Given the description of an element on the screen output the (x, y) to click on. 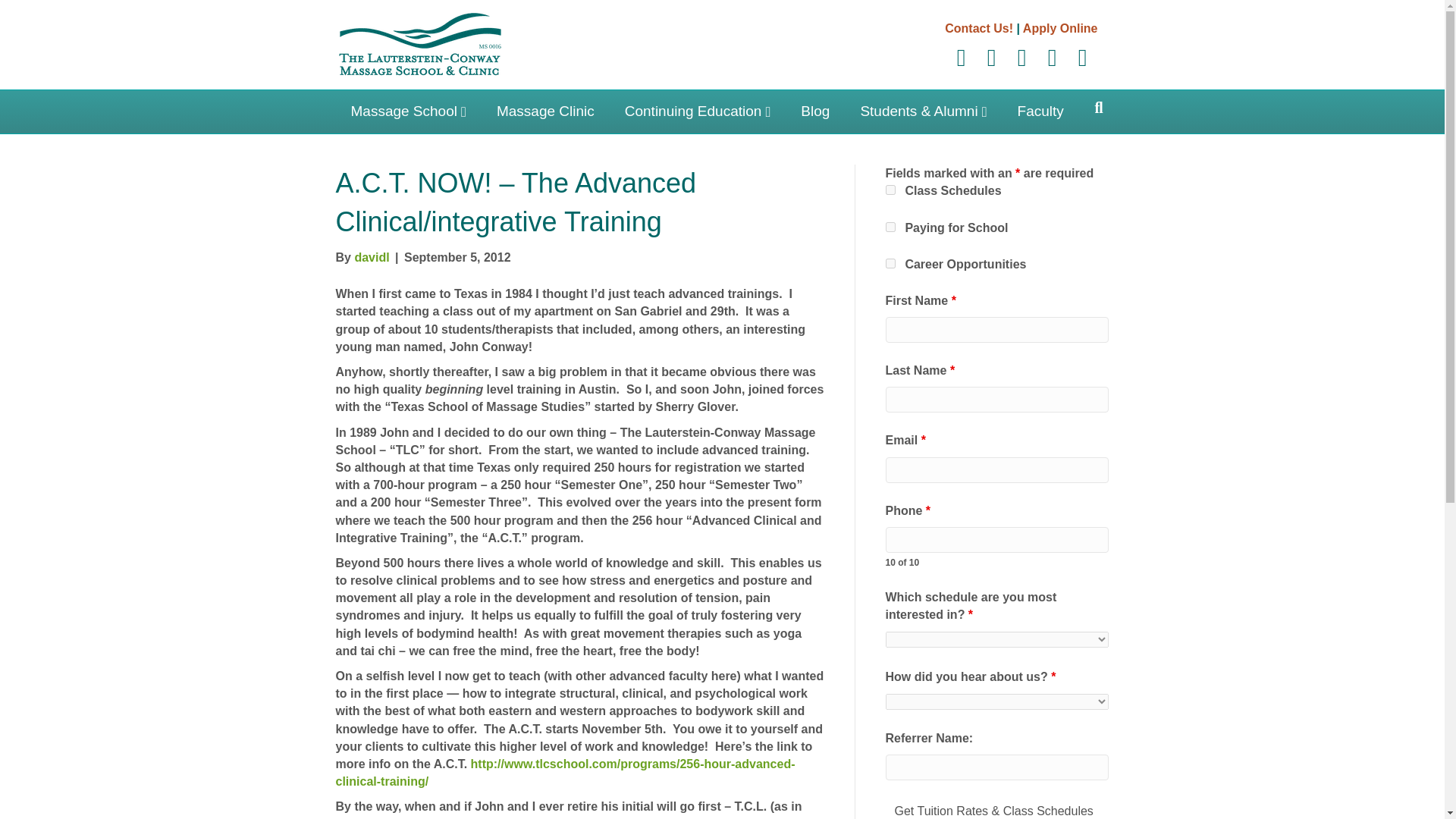
Apply Online (1060, 28)
Massage Clinic (545, 111)
Linkedin (991, 57)
Youtube (1021, 57)
Contact Us! (978, 28)
Email (1082, 57)
Instagram (1051, 57)
Blog (815, 111)
1 (890, 226)
Massage School (407, 111)
